Given the description of an element on the screen output the (x, y) to click on. 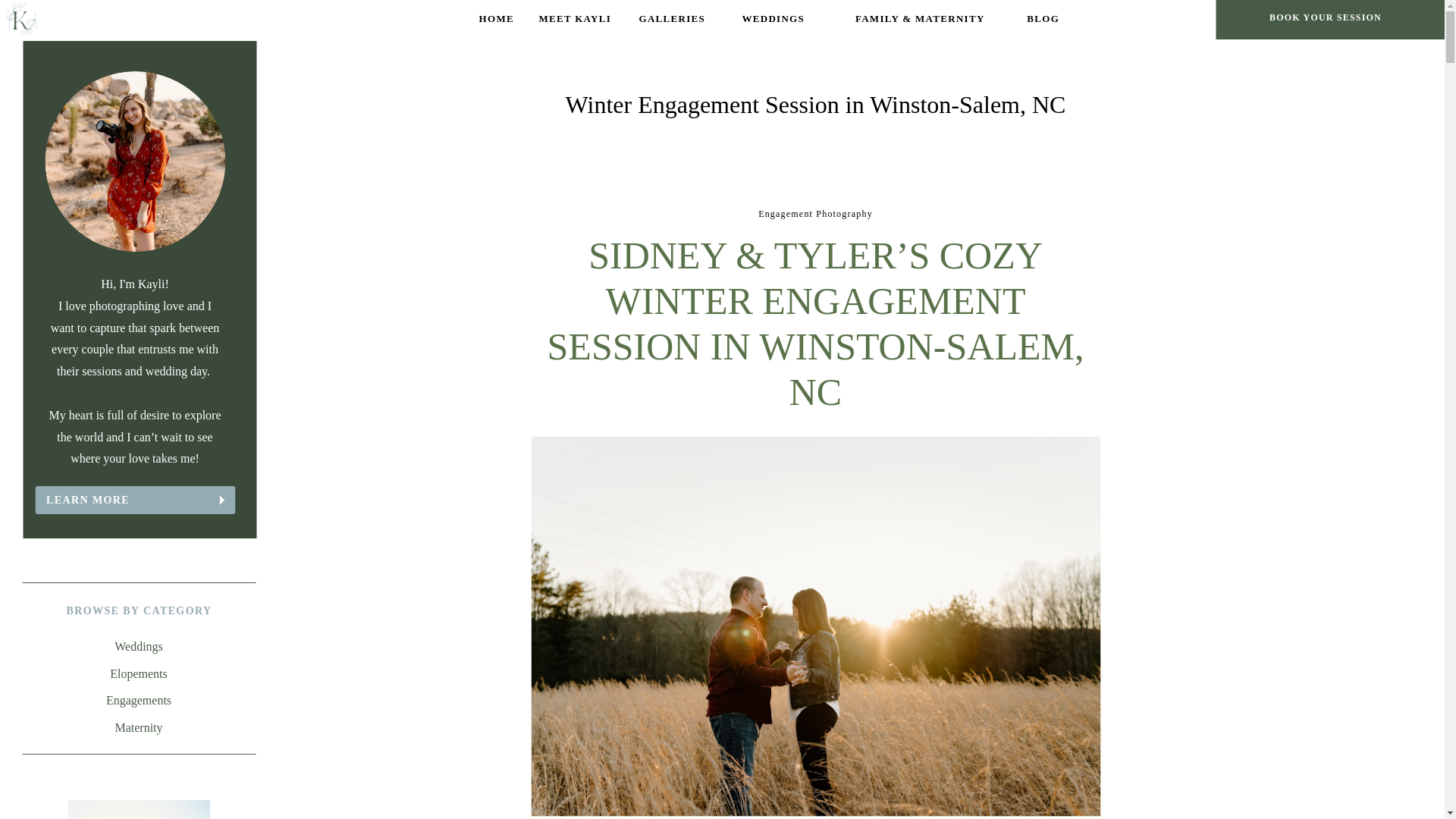
LEARN MORE (132, 499)
BLOG (1042, 19)
HOME (495, 19)
Elopements (138, 674)
Engagement Photography (815, 213)
Maternity (138, 728)
Engagements (138, 700)
MEET KAYLI (575, 19)
Weddings (138, 647)
WEDDINGS (772, 19)
